Given the description of an element on the screen output the (x, y) to click on. 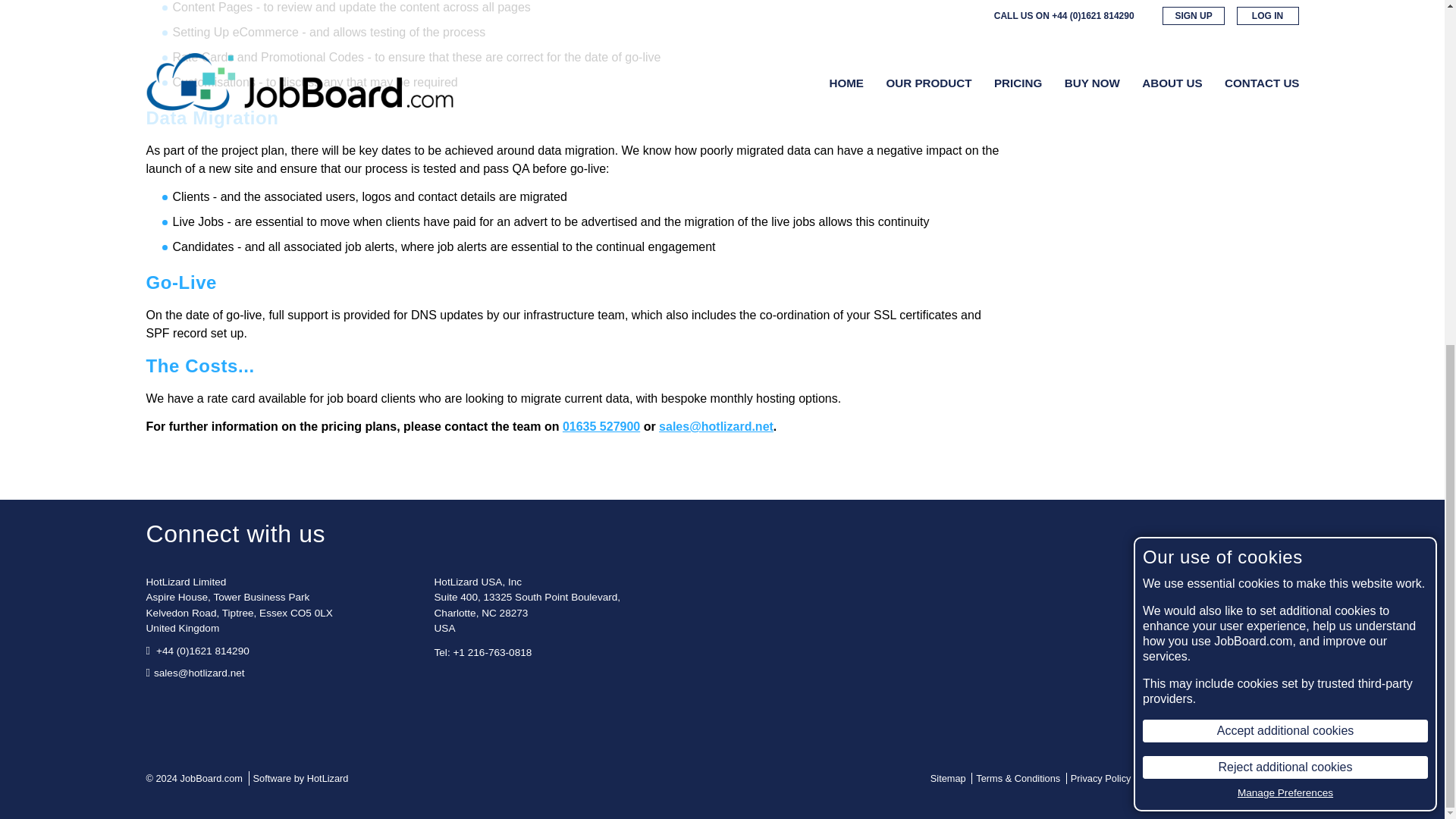
Follow us on X (157, 703)
Reject additional cookies (1285, 177)
Follow us on LinkedIn (188, 703)
Manage Preferences (1285, 202)
01635 527900 (601, 426)
Accept additional cookies (1285, 140)
